Given the description of an element on the screen output the (x, y) to click on. 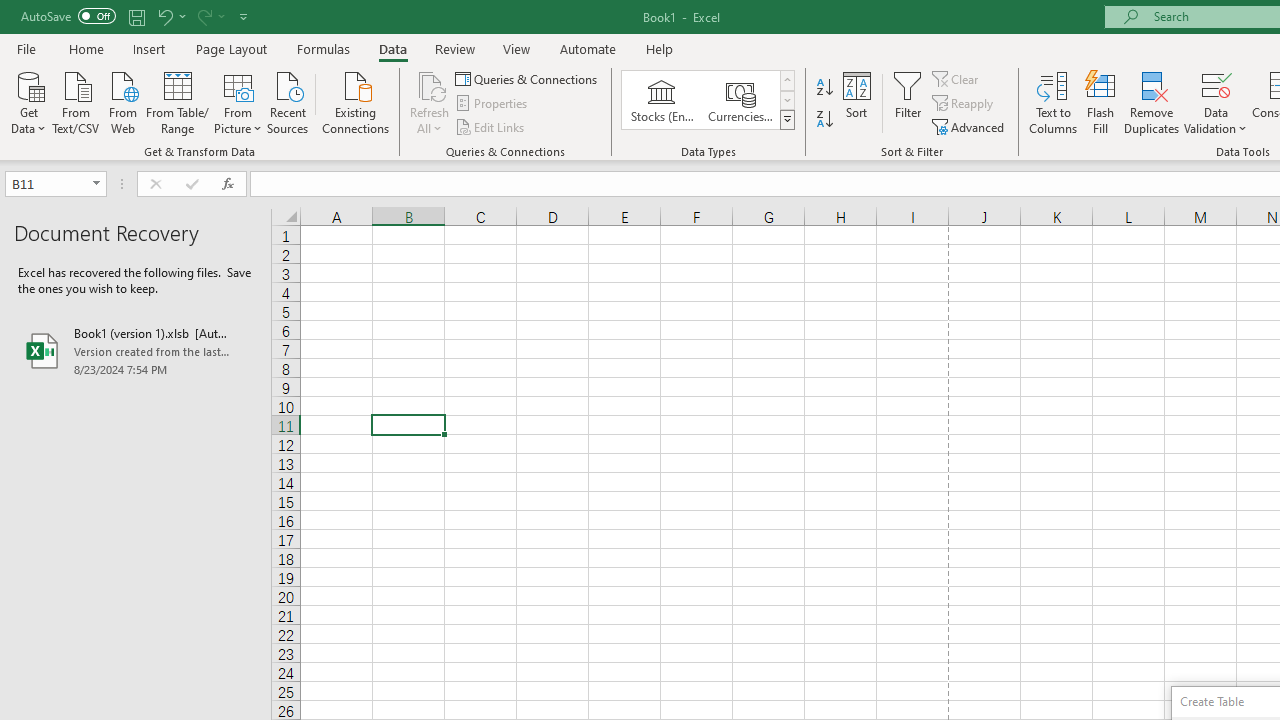
Row Down (786, 100)
AutomationID: ConvertToLinkedEntity (708, 99)
From Text/CSV (75, 101)
Clear (957, 78)
Data Types (786, 120)
Queries & Connections (527, 78)
